Given the description of an element on the screen output the (x, y) to click on. 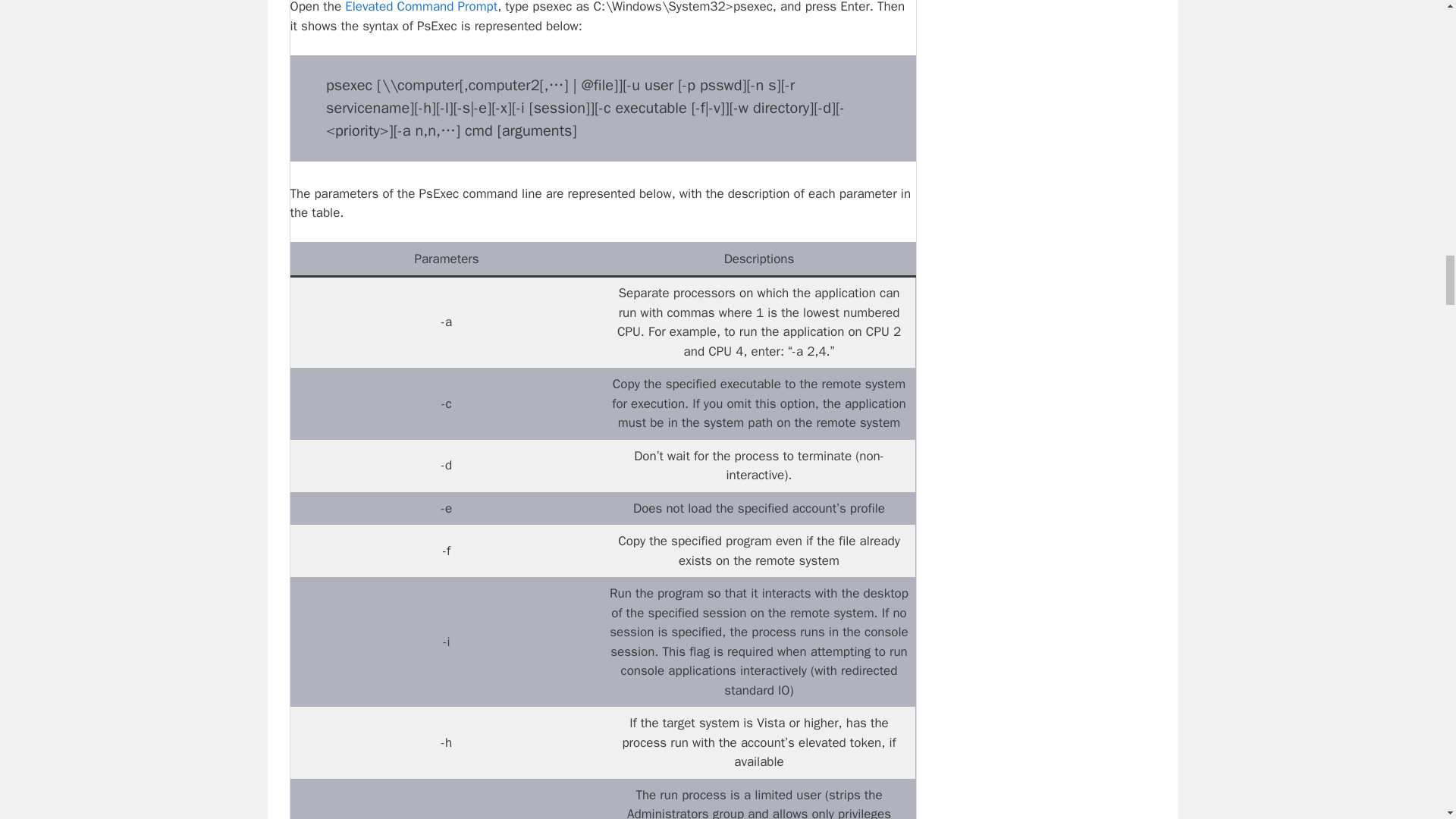
Elevated Command Prompt (421, 7)
